Given the description of an element on the screen output the (x, y) to click on. 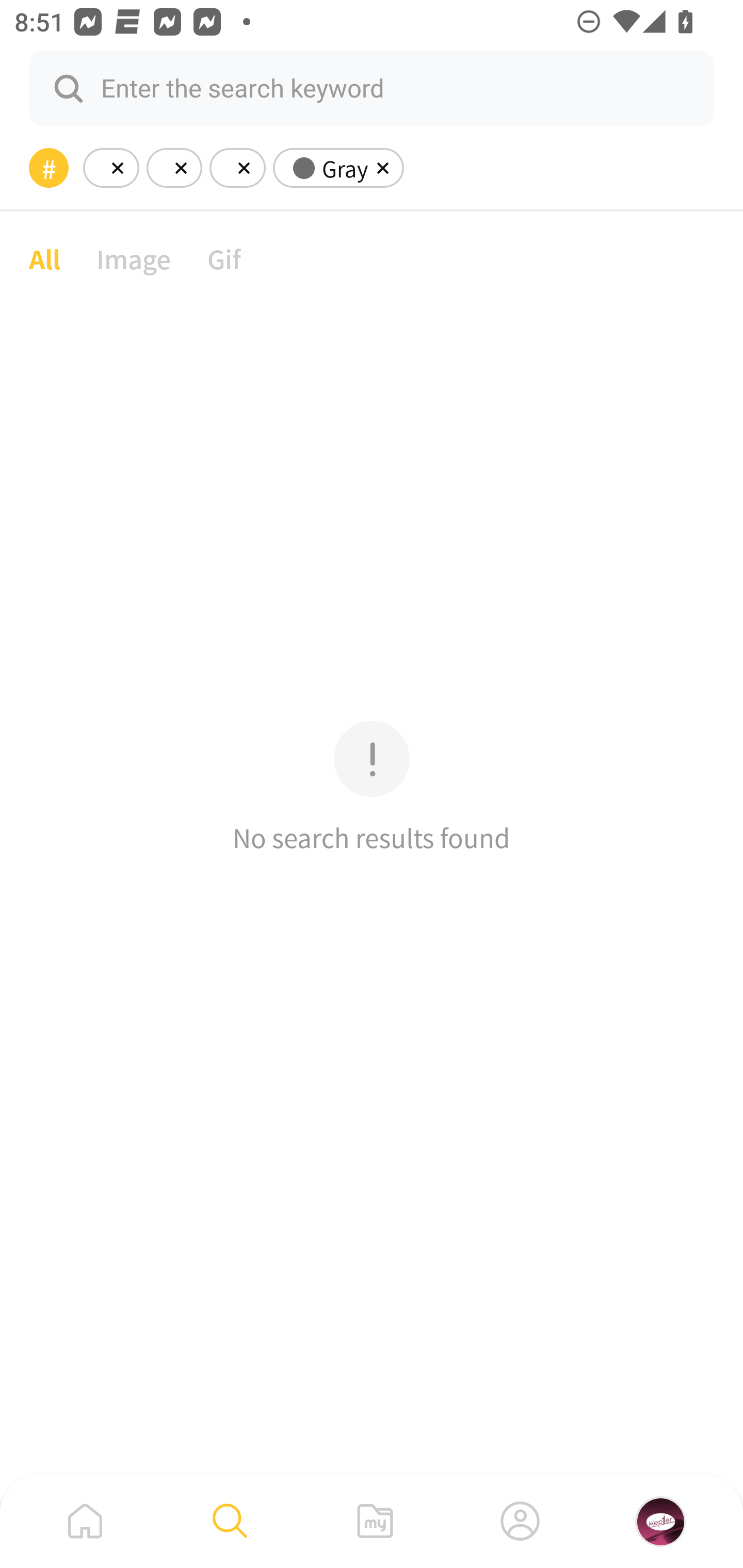
All (44, 257)
Image (133, 257)
Gif (223, 257)
